Given the description of an element on the screen output the (x, y) to click on. 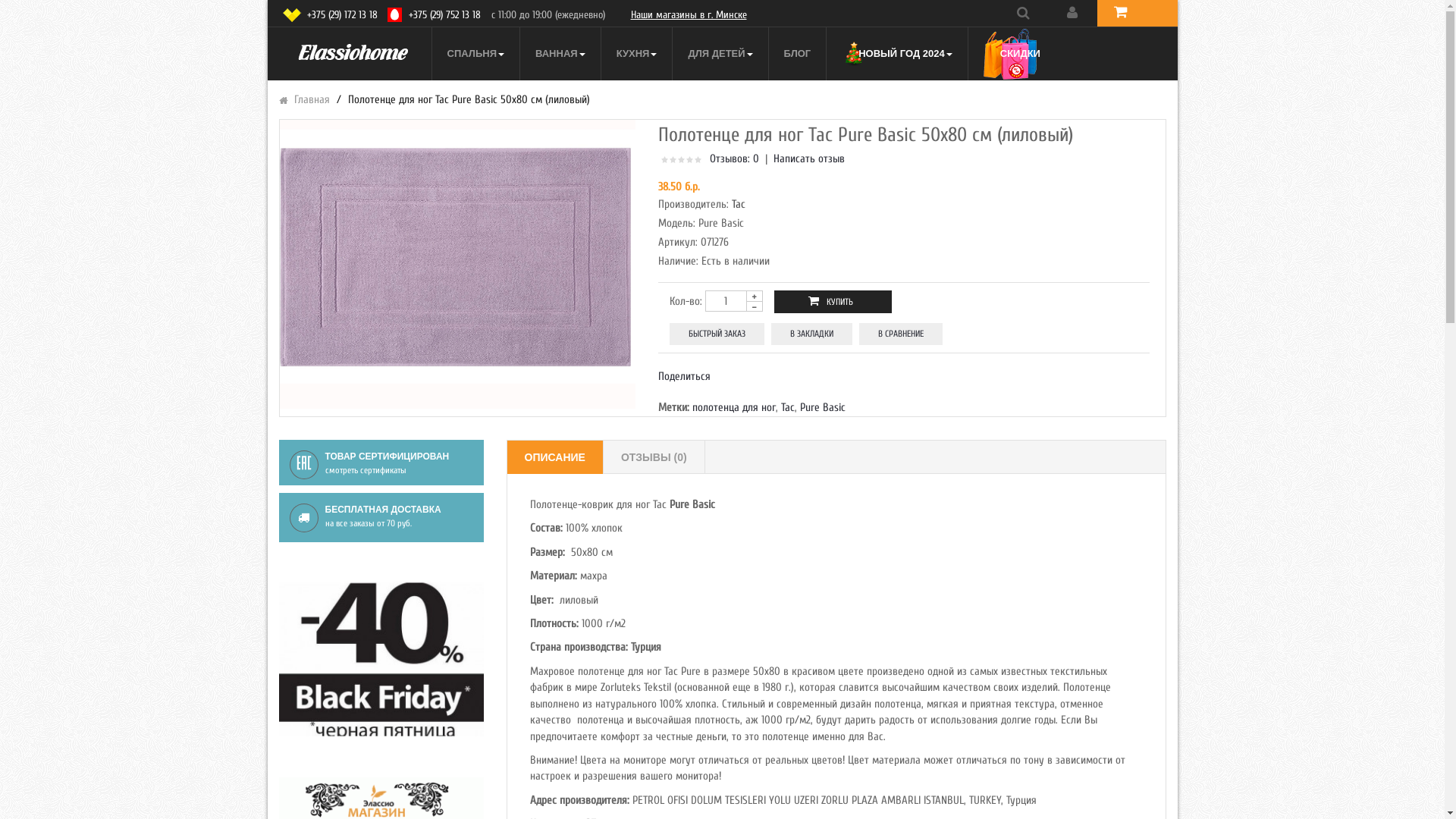
Pure Basic Element type: text (822, 407)
Tac Element type: text (787, 407)
Tac Element type: text (738, 203)
